Given the description of an element on the screen output the (x, y) to click on. 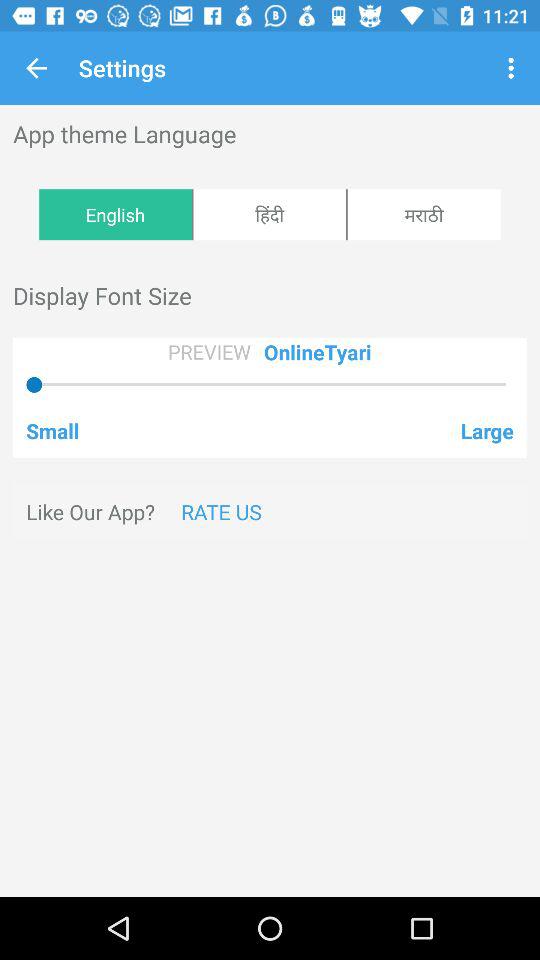
turn off icon to the left of settings app (36, 68)
